Given the description of an element on the screen output the (x, y) to click on. 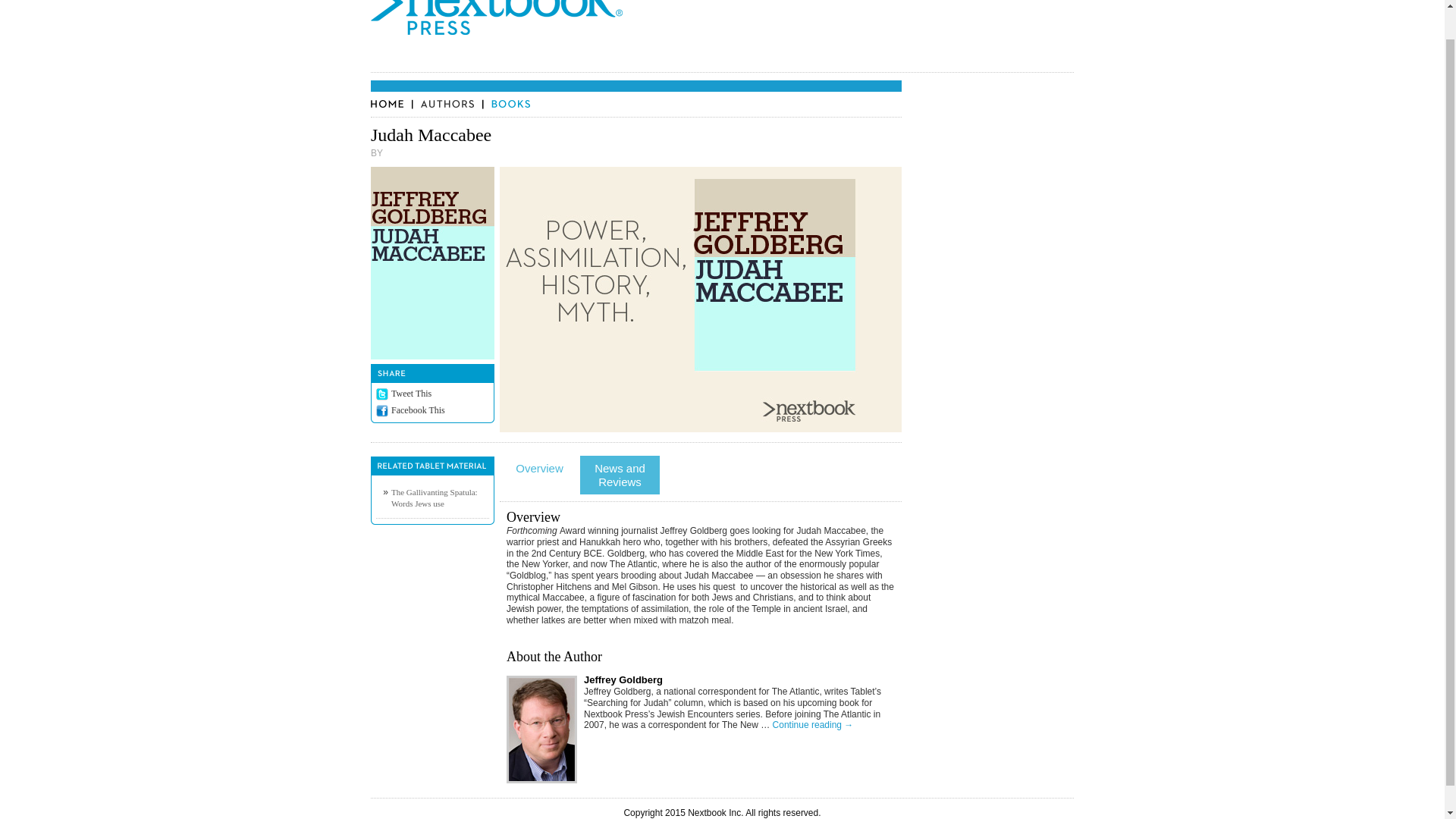
Tweet This (410, 393)
Facebook This (418, 409)
The Gallivanting Spatula: Words Jews use (434, 497)
